Given the description of an element on the screen output the (x, y) to click on. 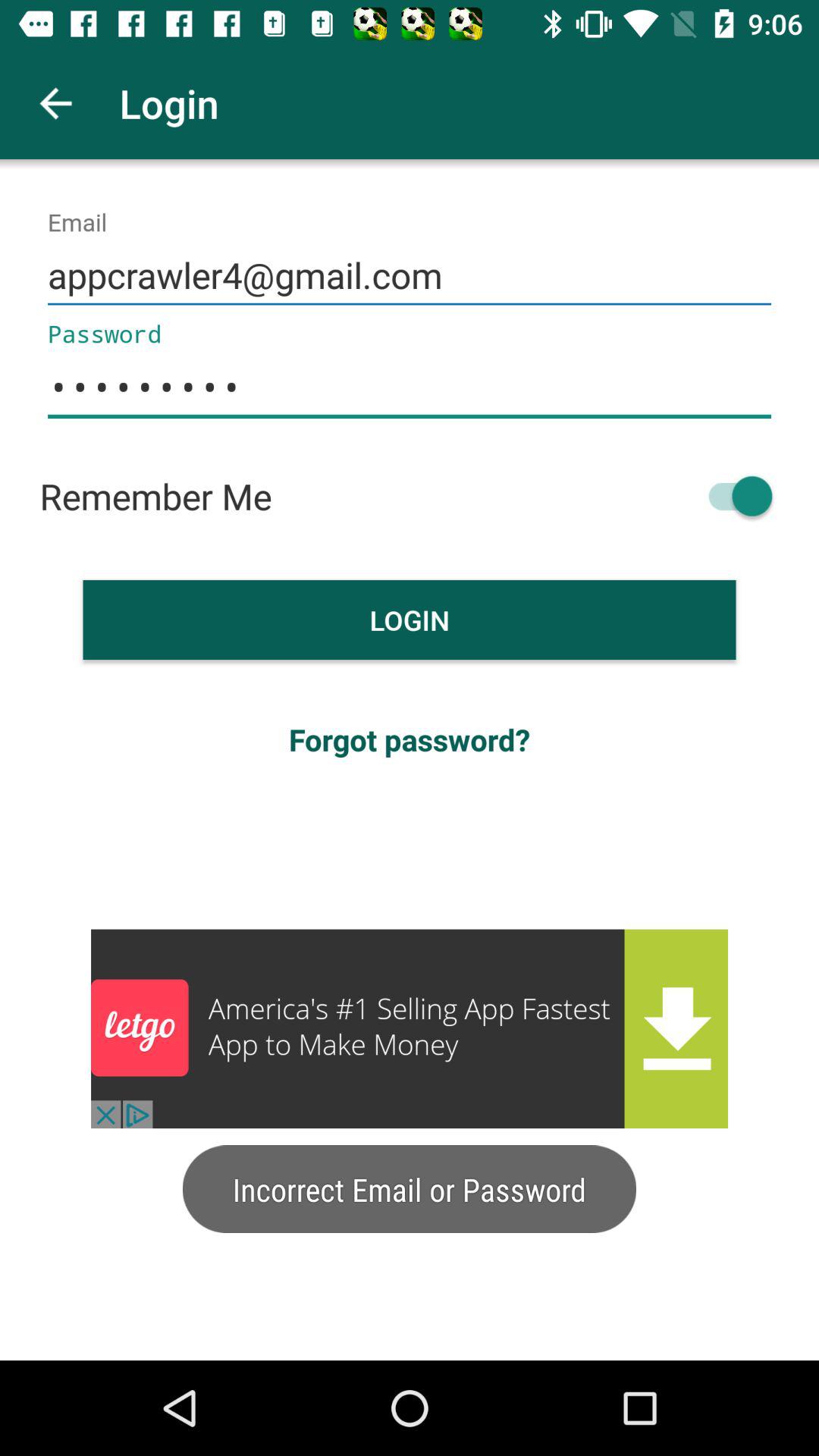
go to advertisement link (409, 1028)
